Given the description of an element on the screen output the (x, y) to click on. 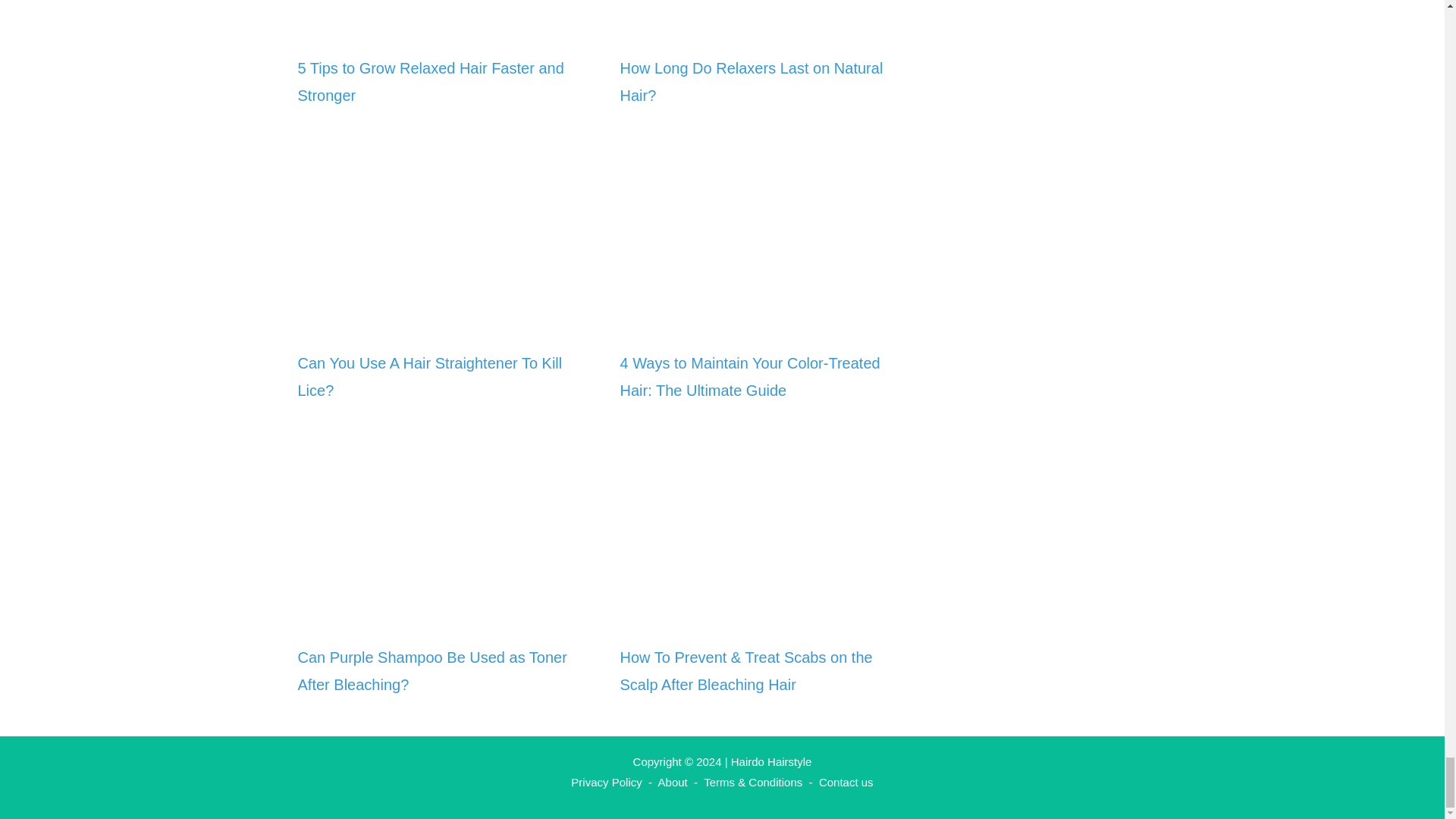
How Long Do Relaxers Last on Natural Hair? (751, 81)
Can You Use A Hair Straightener To Kill Lice? (443, 320)
5 Tips to Grow Relaxed Hair Faster and Stronger (443, 25)
Privacy Policy (606, 781)
Contact us (845, 781)
Can Purple Shampoo Be Used as Toner After Bleaching? (443, 614)
5 Tips to Grow Relaxed Hair Faster and Stronger (430, 81)
Can Purple Shampoo Be Used as Toner After Bleaching? (431, 670)
